Given the description of an element on the screen output the (x, y) to click on. 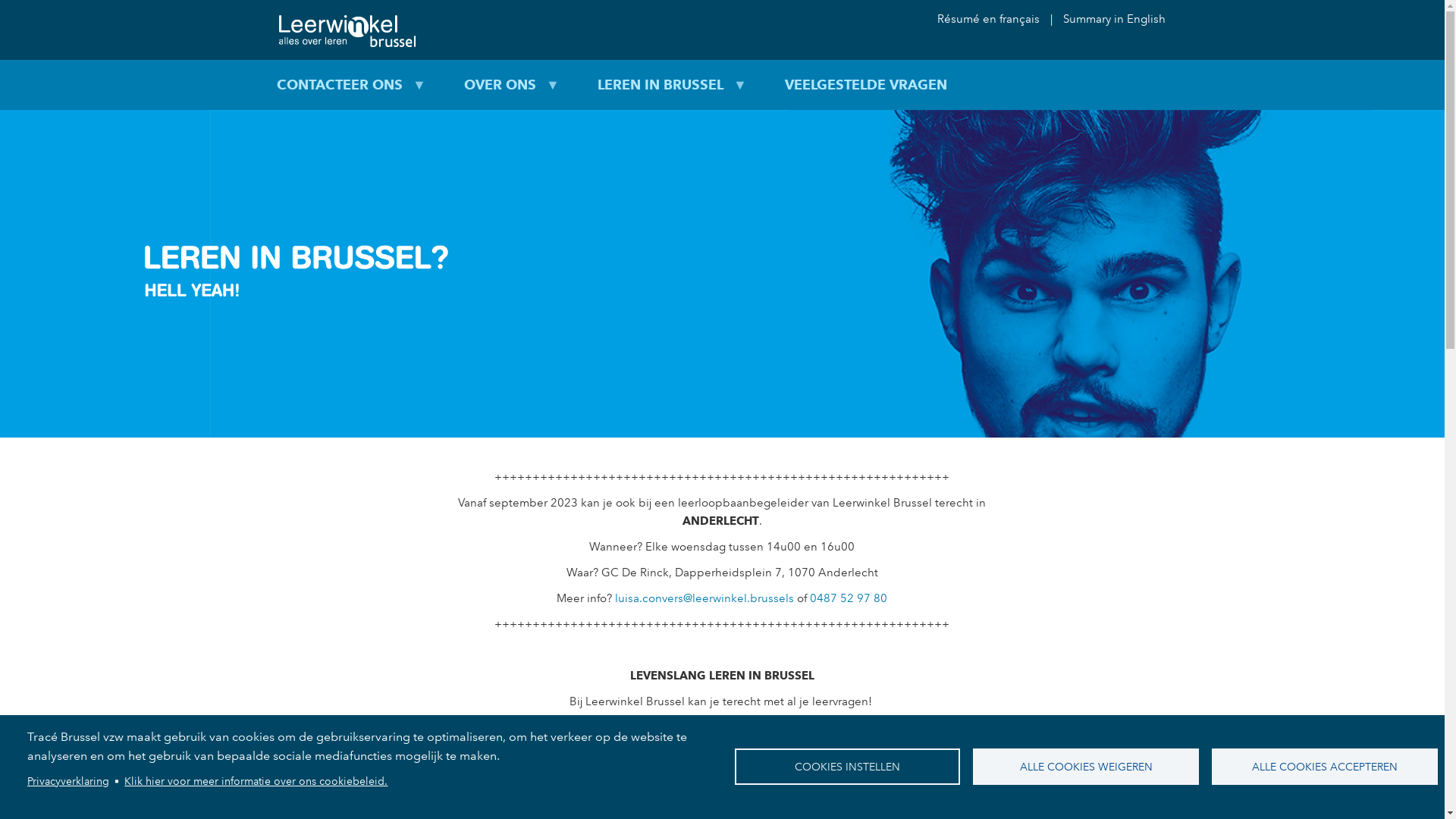
Klik hier voor meer informatie over ons cookiebeleid. Element type: text (255, 781)
0487 52 97 80 Element type: text (848, 598)
COOKIES INSTELLEN Element type: text (847, 766)
Privacyverklaring Element type: text (68, 781)
VEELGESTELDE VRAGEN Element type: text (865, 84)
Summary in English Element type: text (1110, 18)
ALLE COOKIES ACCEPTEREN Element type: text (1324, 766)
leer- of studiekeuze Element type: text (954, 763)
Nederlandstalige onderwijs- en opleidingsaanbod in Brussel Element type: text (715, 754)
ALLE COOKIES WEIGEREN Element type: text (1085, 766)
contact Element type: text (701, 789)
luisa.convers@leerwinkel.brussels Element type: text (704, 598)
